Given the description of an element on the screen output the (x, y) to click on. 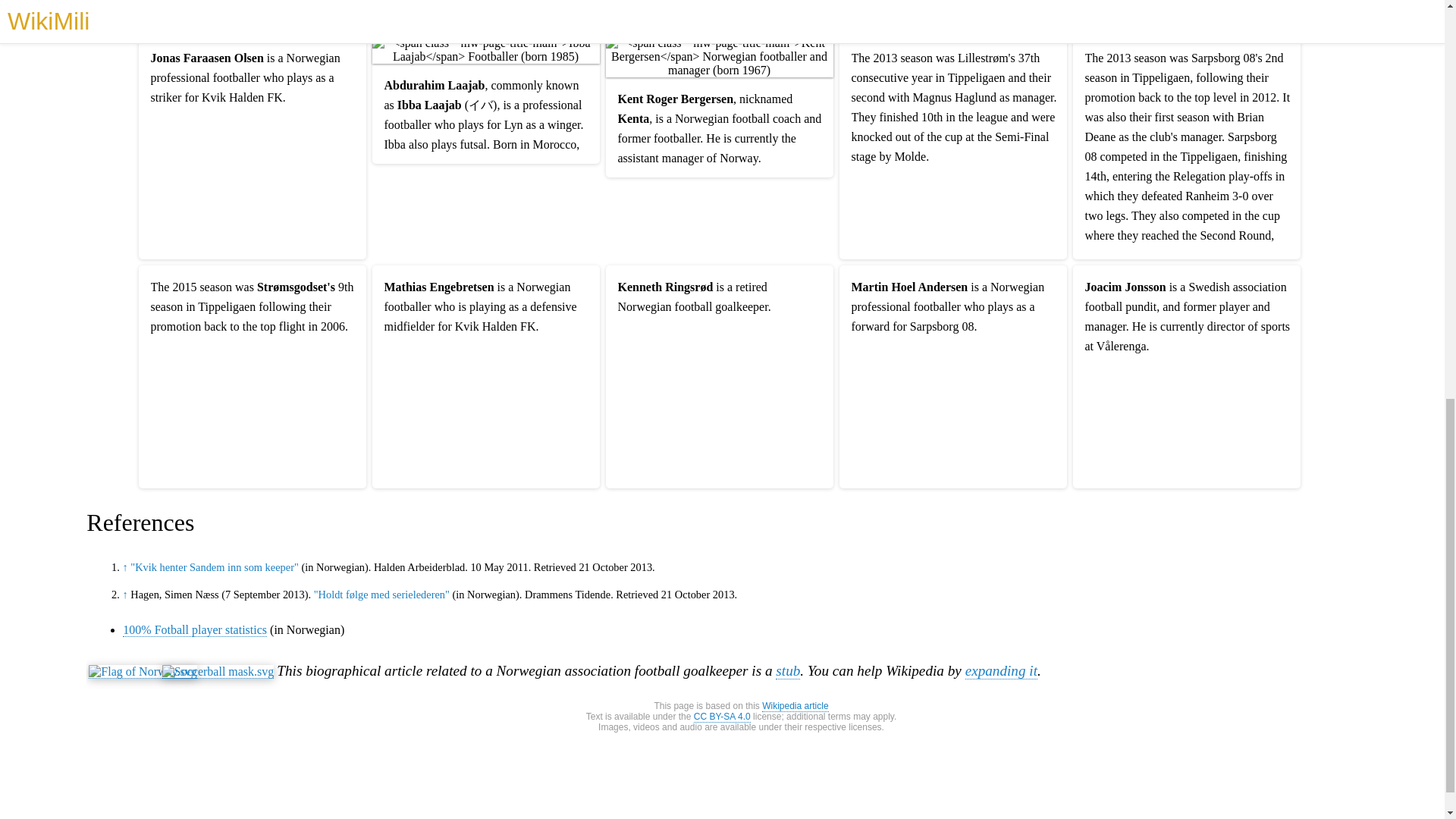
"Kvik henter Sandem inn som keeper" (214, 567)
stub (787, 670)
CC BY-SA 4.0 (722, 716)
expanding it (1000, 670)
Wikipedia:Stub (787, 670)
Wikipedia article (794, 706)
